Given the description of an element on the screen output the (x, y) to click on. 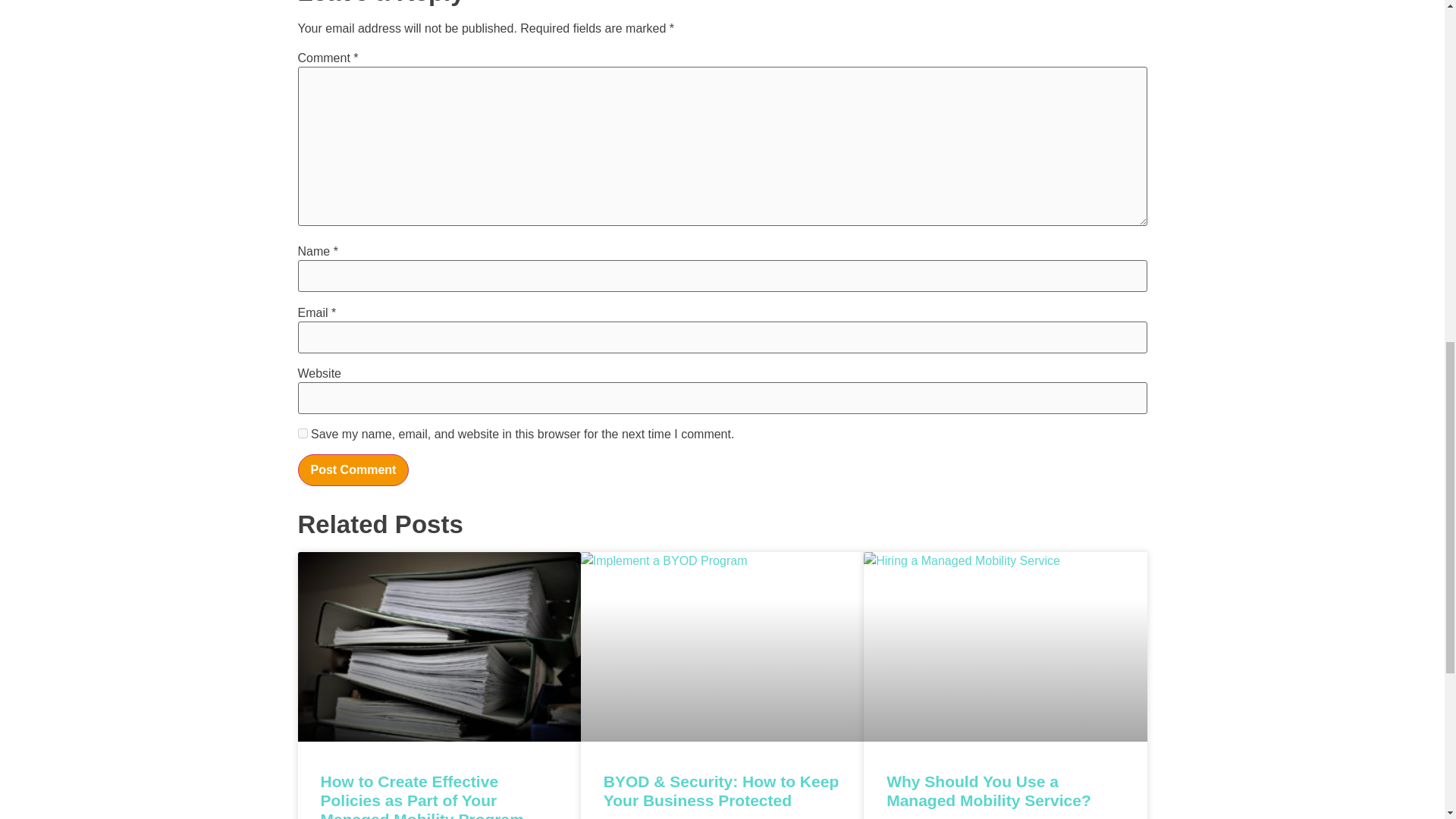
Post Comment (353, 470)
Why Should You Use a Managed Mobility Service? (988, 791)
yes (302, 433)
Post Comment (353, 470)
